Given the description of an element on the screen output the (x, y) to click on. 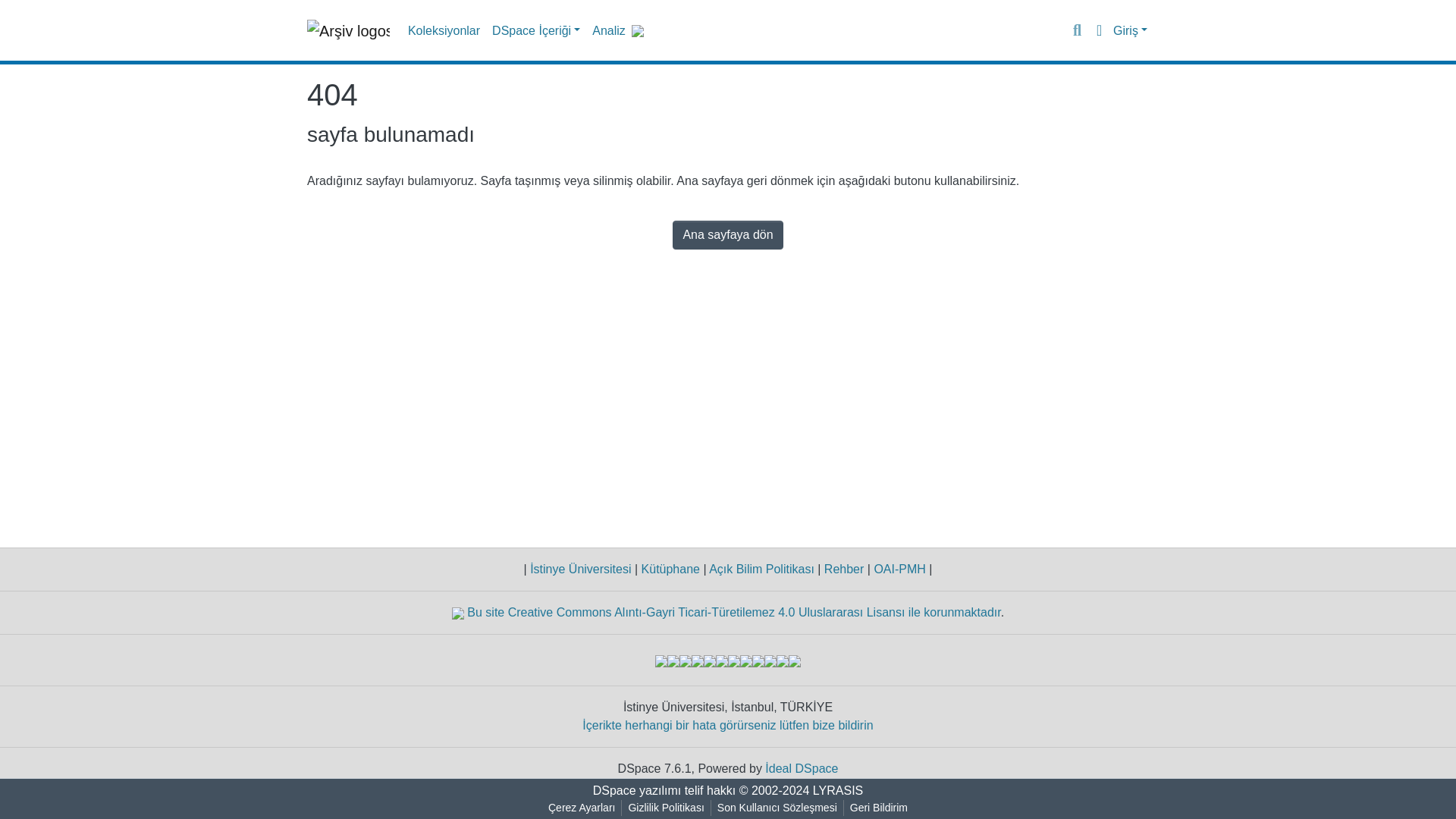
OAI-PMH (899, 568)
Rehber (843, 568)
Koleksiyonlar (443, 30)
Analiz (608, 30)
Ara (1076, 30)
Koleksiyonlar (443, 30)
